Given the description of an element on the screen output the (x, y) to click on. 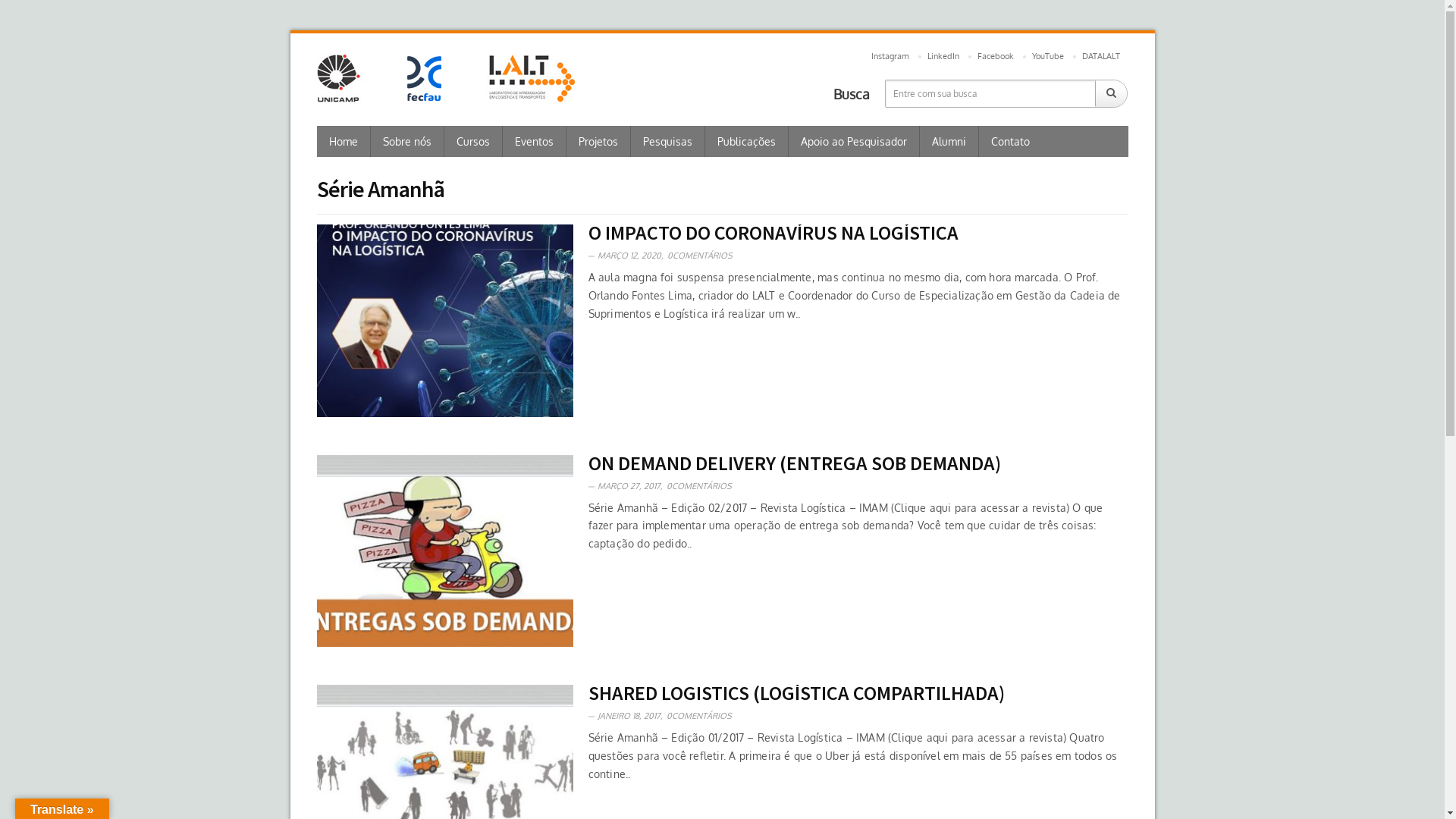
Cursos Element type: text (473, 140)
Home Element type: text (343, 140)
DATALALT Element type: text (1100, 56)
LinkedIn Element type: text (942, 56)
ON DEMAND DELIVERY (ENTREGA SOB DEMANDA) Element type: text (794, 462)
Contato Element type: text (1009, 140)
Alumni Element type: text (948, 140)
Facebook Element type: text (995, 56)
Eventos Element type: text (533, 140)
Pesquisas Element type: text (667, 140)
YouTube Element type: text (1047, 56)
Instagram Element type: text (889, 56)
Projetos Element type: text (597, 140)
Apoio ao Pesquisador Element type: text (853, 140)
